Given the description of an element on the screen output the (x, y) to click on. 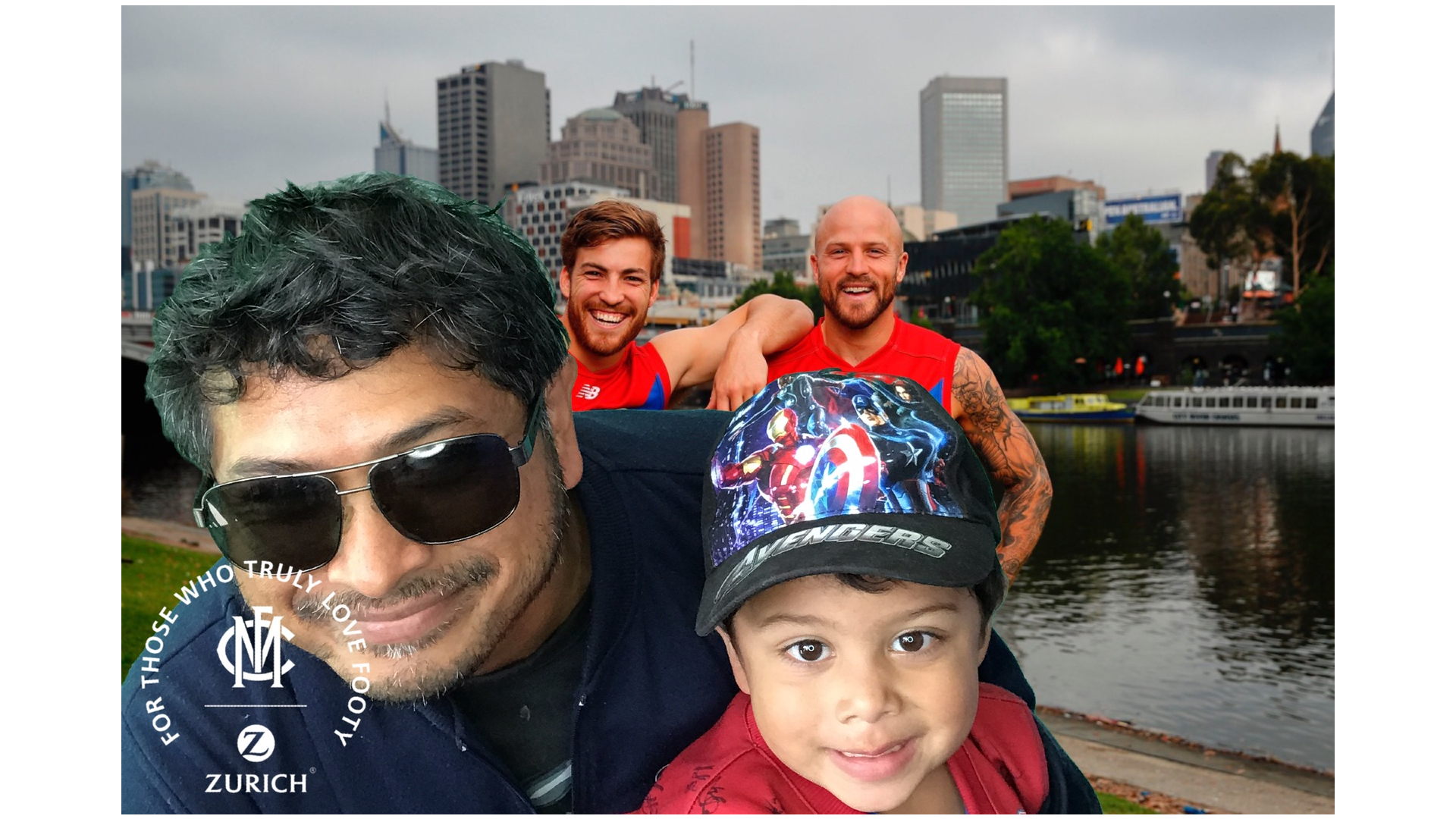
Share Gallery Element type: hover (1204, 520)
PIC-CHA-BOOTH Element type: text (1394, 36)
BUY PHOTOS Element type: text (1363, 520)
Powered by SmugMug Element type: text (696, 560)
Owner Log In Element type: text (779, 560)
HOME Element type: text (1330, 36)
BUY PHOTO Element type: text (1266, 786)
Download All Element type: hover (1279, 520)
Slideshow Element type: hover (1241, 520)
